Given the description of an element on the screen output the (x, y) to click on. 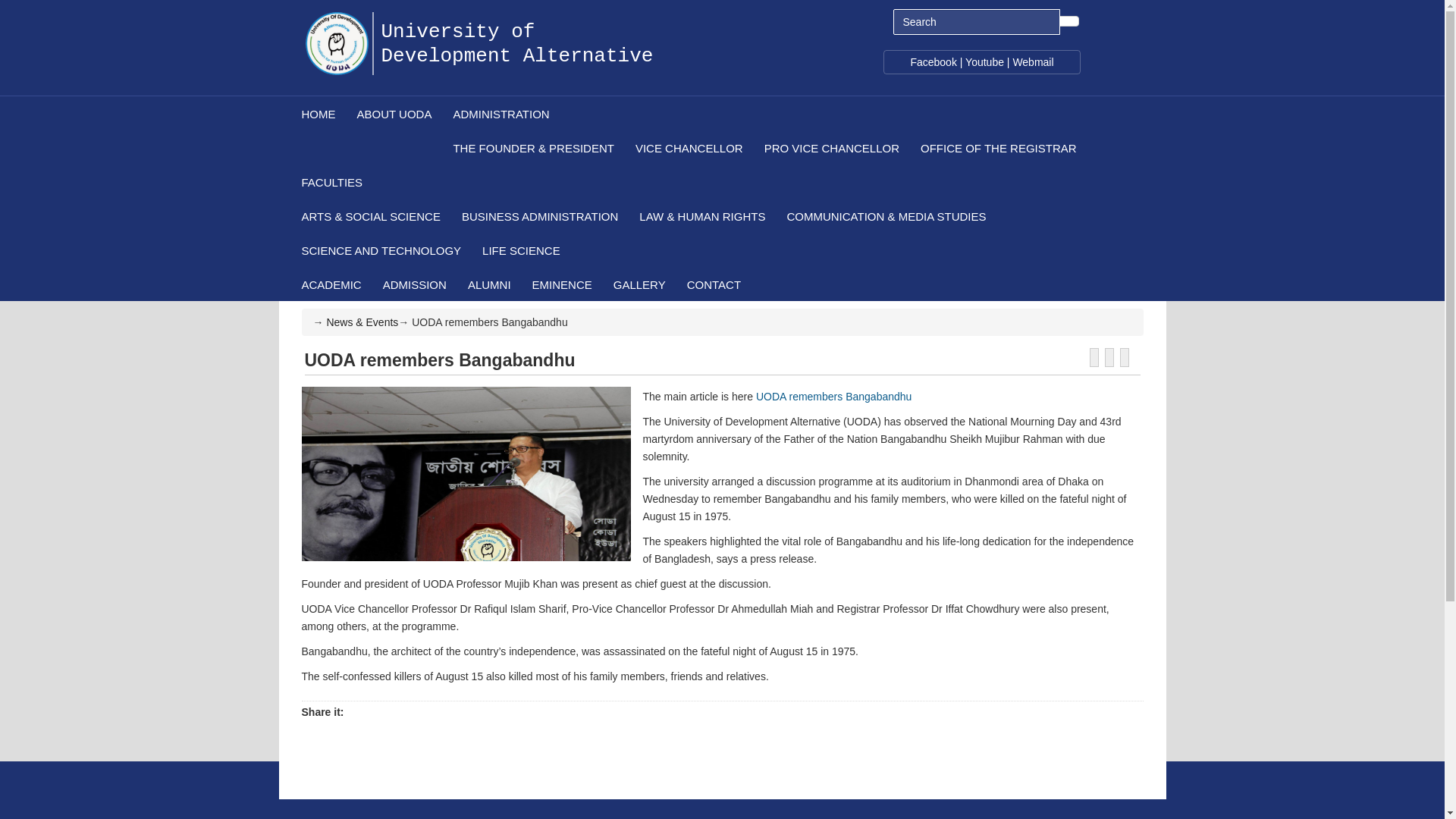
Youtube Element type: text (984, 62)
COMMUNICATION & MEDIA STUDIES Element type: text (885, 215)
Facebook Element type: text (933, 62)
PRO VICE CHANCELLOR Element type: text (831, 147)
ADMISSION Element type: text (413, 283)
News & Events Element type: text (362, 322)
OFFICE OF THE REGISTRAR Element type: text (997, 147)
HOME Element type: text (317, 113)
ARTS & SOCIAL SCIENCE Element type: text (369, 215)
BUSINESS ADMINISTRATION Element type: text (538, 215)
LAW & HUMAN RIGHTS Element type: text (701, 215)
UODA remembers Bangabandhu Element type: text (833, 396)
FACULTIES Element type: text (710, 181)
ACADEMIC Element type: text (329, 283)
THE FOUNDER & PRESIDENT Element type: text (532, 147)
ADMINISTRATION Element type: text (763, 113)
EMINENCE Element type: text (561, 283)
ALUMNI Element type: text (488, 283)
SCIENCE AND TECHNOLOGY Element type: text (379, 249)
ABOUT UODA Element type: text (393, 113)
LIFE SCIENCE Element type: text (520, 249)
CONTACT Element type: text (712, 283)
VICE CHANCELLOR Element type: text (688, 147)
University of
Development Alternative Element type: text (516, 31)
GALLERY Element type: text (638, 283)
Webmail Element type: text (1032, 62)
